Given the description of an element on the screen output the (x, y) to click on. 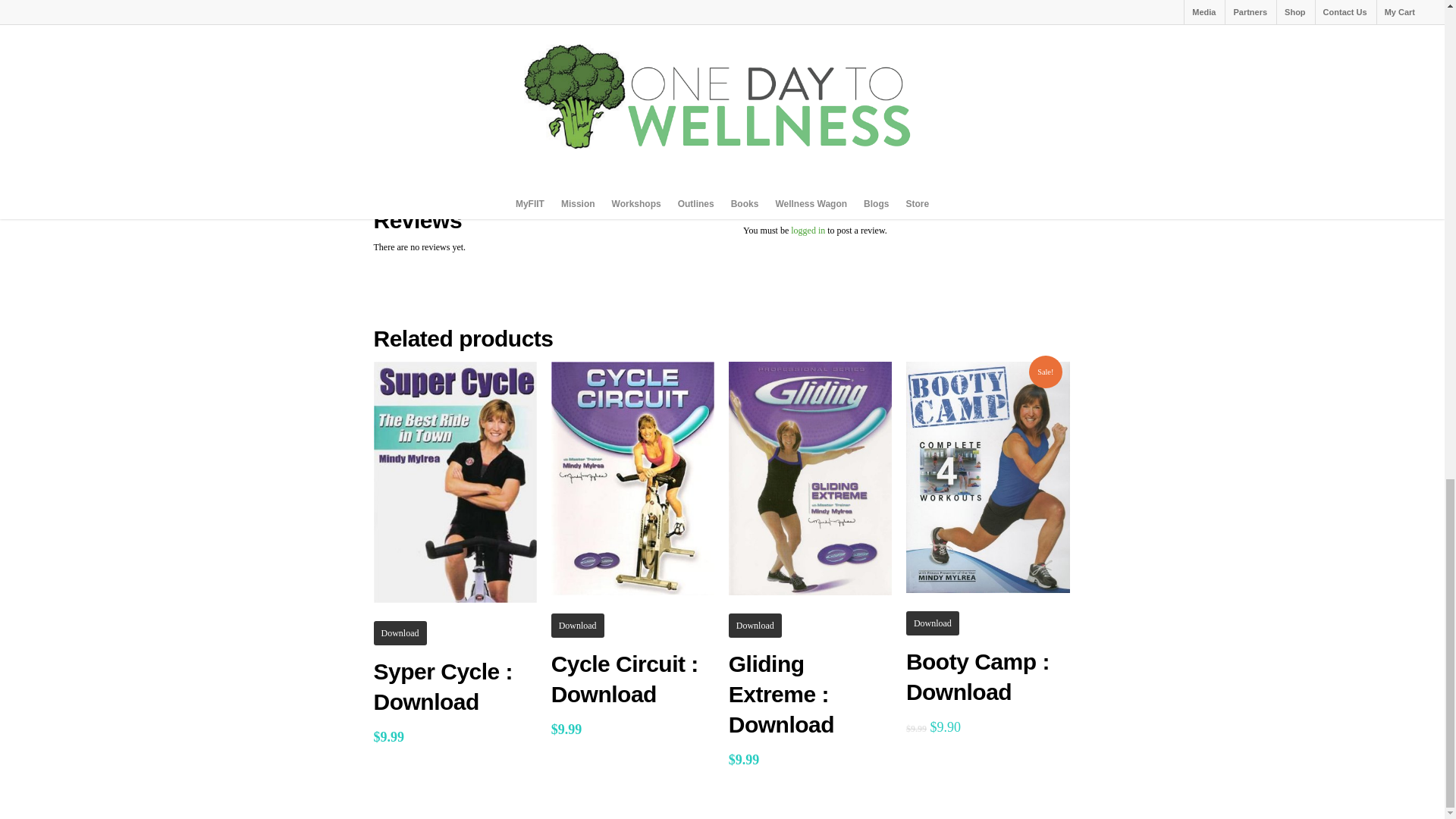
Download (932, 622)
Download (755, 625)
Download (399, 632)
Download (577, 625)
logged in (807, 230)
